Given the description of an element on the screen output the (x, y) to click on. 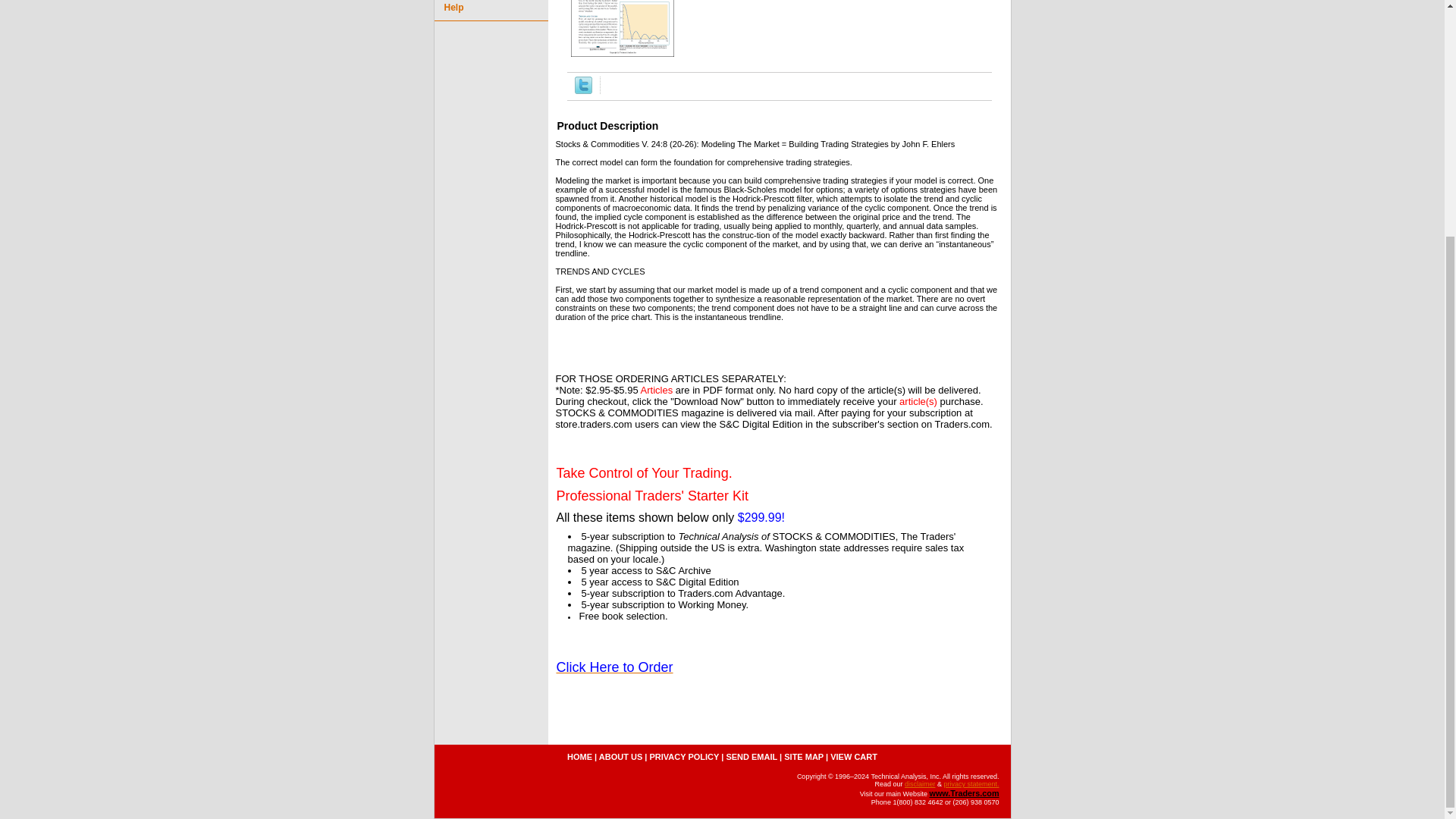
Tweet (583, 90)
VIEW CART (853, 756)
Click Here to Order (614, 668)
SEND EMAIL (751, 756)
privacy statement. (970, 783)
disclaimer (920, 783)
Help (490, 10)
PRIVACY POLICY (684, 756)
ABOUT US (620, 756)
www.Traders.com (963, 792)
SITE MAP (804, 756)
HOME (579, 756)
Help (490, 10)
